Given the description of an element on the screen output the (x, y) to click on. 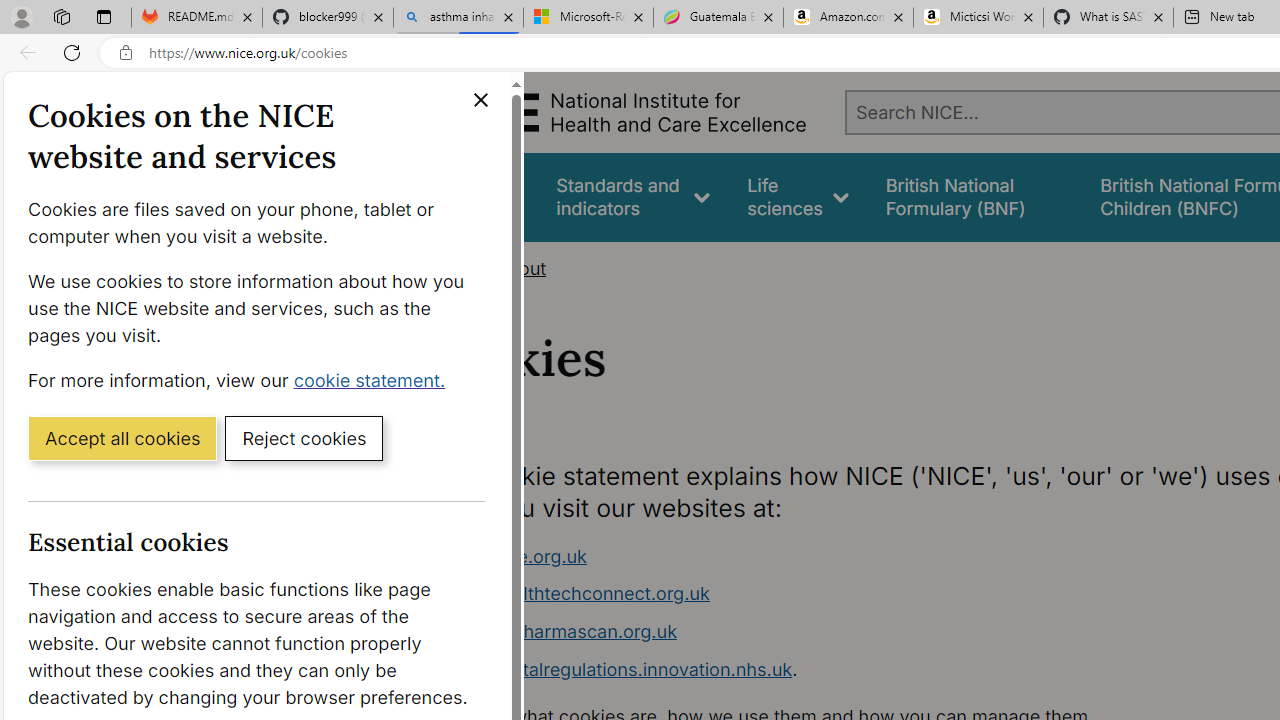
www.digitalregulations.innovation.nhs.uk. (818, 669)
Accept all cookies (122, 437)
www.ukpharmascan.org.uk (560, 631)
www.healthtechconnect.org.uk (818, 594)
www.digitalregulations.innovation.nhs.uk (617, 668)
Reject cookies (304, 437)
